Given the description of an element on the screen output the (x, y) to click on. 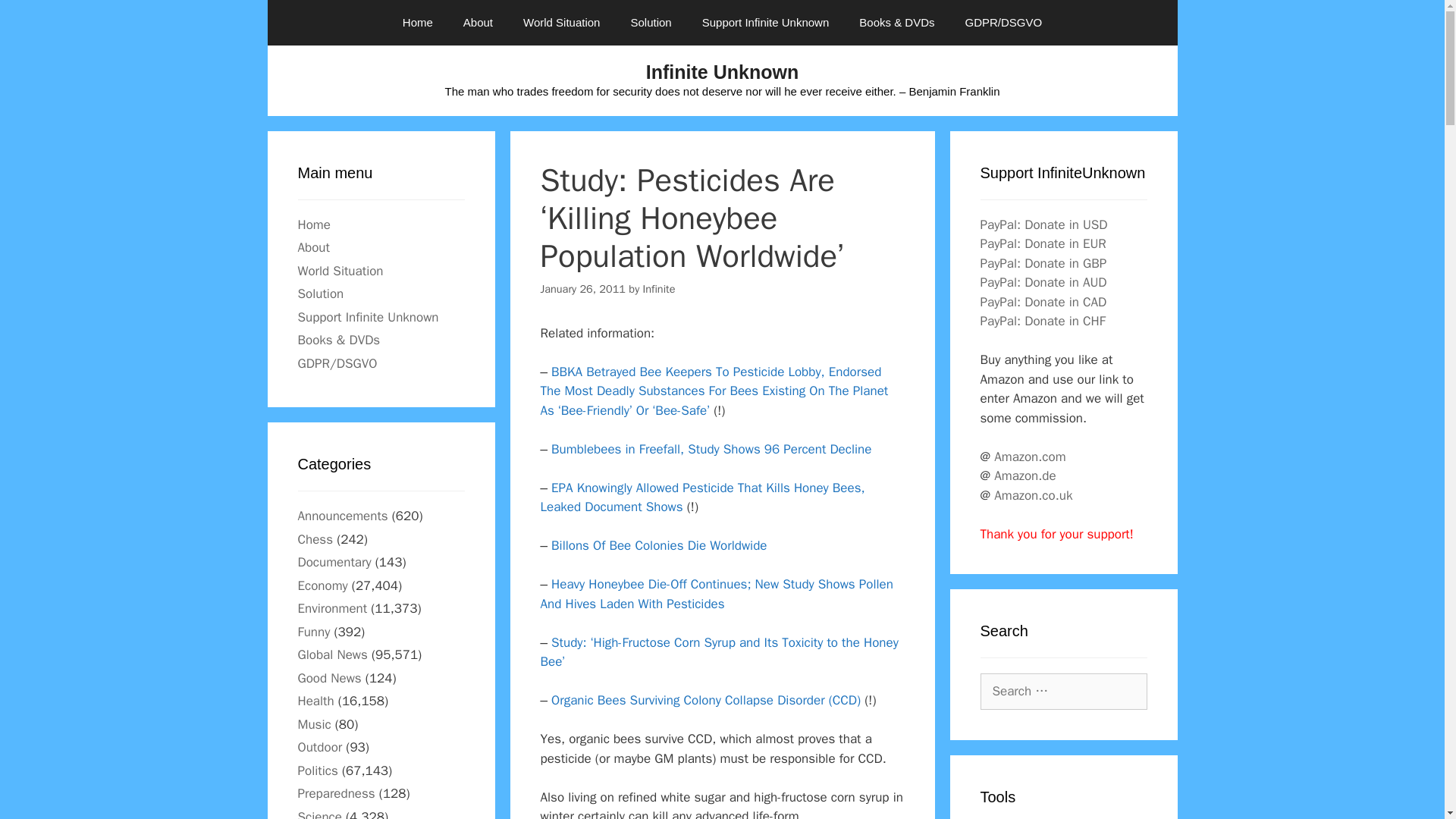
Bumblebees in Freefall, Study Shows 96 Percent Decline (710, 449)
View all posts by Infinite (659, 288)
Home (313, 224)
Billons Of Bee Colonies Die Worldwide (659, 545)
Infinite Unknown (721, 71)
Support Infinite Unknown (765, 22)
Home (417, 22)
Infinite (659, 288)
World Situation (561, 22)
Permanent Link to Billons Of Bee Colonies Die Worldwide (659, 545)
World Situation (339, 270)
